Given the description of an element on the screen output the (x, y) to click on. 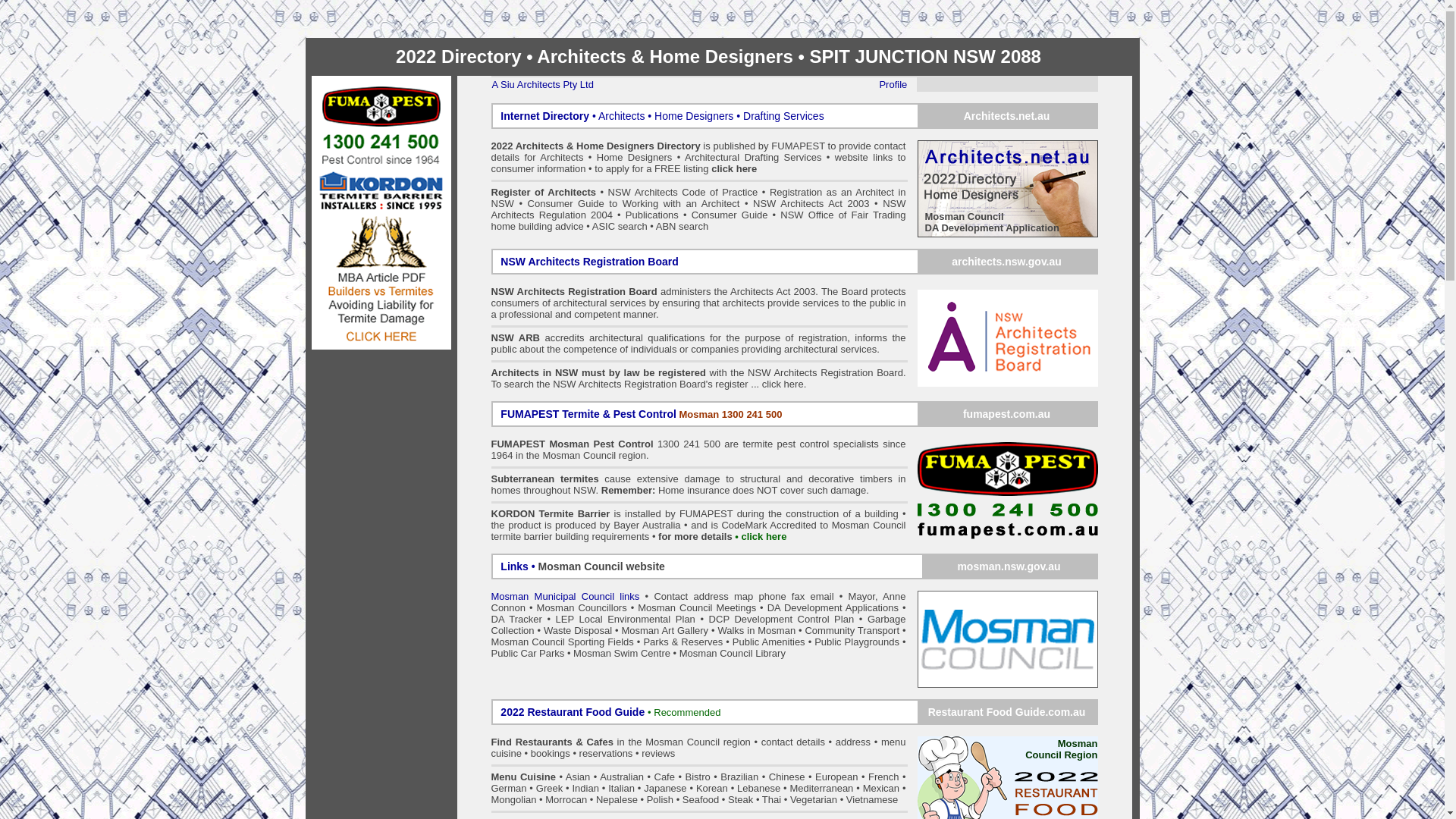
Waste Disposal Element type: text (577, 630)
Community Transport Element type: text (851, 630)
Contact address map phone fax email Element type: text (743, 596)
Mosman Council Sporting Fields Element type: text (562, 641)
Architects Act 2003 Element type: text (772, 291)
and is CodeMark Element type: text (728, 524)
Walks in Mosman Element type: text (756, 630)
mosman.nsw.gov.au Element type: text (1008, 566)
DA Development Applications Element type: text (832, 607)
NSW Architects Act 2003 Element type: text (811, 203)
Mosman Municipal Council links Element type: text (565, 596)
Mayor, Anne Connon Element type: text (698, 601)
NSW Office of Fair Trading home building advice Element type: text (698, 220)
click here Element type: text (782, 383)
Mosman Council website Element type: text (601, 566)
click here Element type: text (733, 168)
DCP Development Control Plan Element type: text (781, 618)
Consumer Guide Element type: text (729, 214)
Mosman Council Meetings Element type: text (696, 607)
Garbage Collection Element type: text (698, 624)
Pest Control Element type: text (622, 443)
Public Amenities Element type: text (768, 641)
Mosman Council
DA Development Application Element type: text (1007, 188)
ABN search Element type: text (681, 226)
Restaurants & Cafes in the Mosman Council Element type: text (617, 741)
A Siu Architects Pty Ltd Profile Element type: text (703, 84)
NSW Architects Code of Practice Element type: text (685, 191)
Mosman Swim Centre Element type: text (621, 652)
Mosman Art Gallery Element type: text (664, 630)
fumapest.com.au Element type: text (1006, 414)
architects.nsw.gov.au Element type: text (1006, 261)
NSW Architects Regulation 2004 Element type: text (698, 208)
2022 Architects & Home Designers Directory Element type: text (595, 145)
Registration as an Architect in NSW Element type: text (698, 197)
FUMAPEST Element type: text (708, 513)
FUMAPEST Element type: text (518, 443)
Public Playgrounds Element type: text (856, 641)
2022 Restaurant Food Guide Element type: text (573, 712)
Architects.net.au Element type: text (1006, 116)
FUMAPEST Element type: text (798, 145)
Subterranean termites Element type: text (545, 478)
Mosman Councillors Element type: text (581, 607)
Consumer Guide to Working with an Architect Element type: text (633, 203)
LEP Local Environmental Plan Element type: text (625, 618)
Public Car Parks Element type: text (527, 652)
DA Tracker Element type: text (516, 618)
Mosman Council Library Element type: text (732, 652)
Parks & Reserves Element type: text (682, 641)
Mosman Element type: text (569, 443)
Publications Element type: text (651, 214)
Restaurant Food Guide.com.au Element type: text (1006, 712)
Register of Architects Element type: text (543, 191)
